Given the description of an element on the screen output the (x, y) to click on. 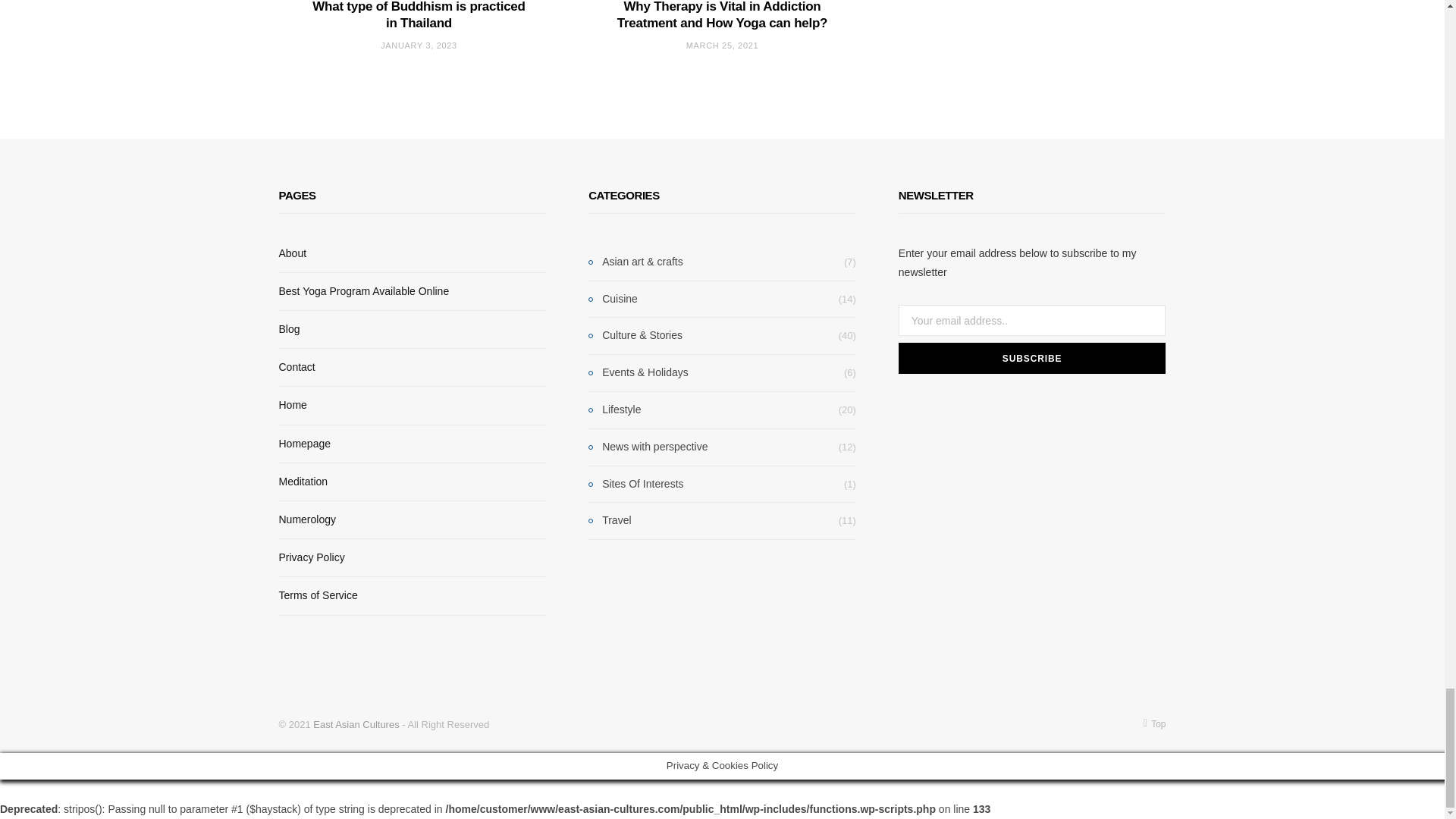
What type of Buddhism is practiced in Thailand (418, 15)
Subscribe (1032, 358)
MARCH 25, 2021 (721, 44)
JANUARY 3, 2023 (418, 44)
